Given the description of an element on the screen output the (x, y) to click on. 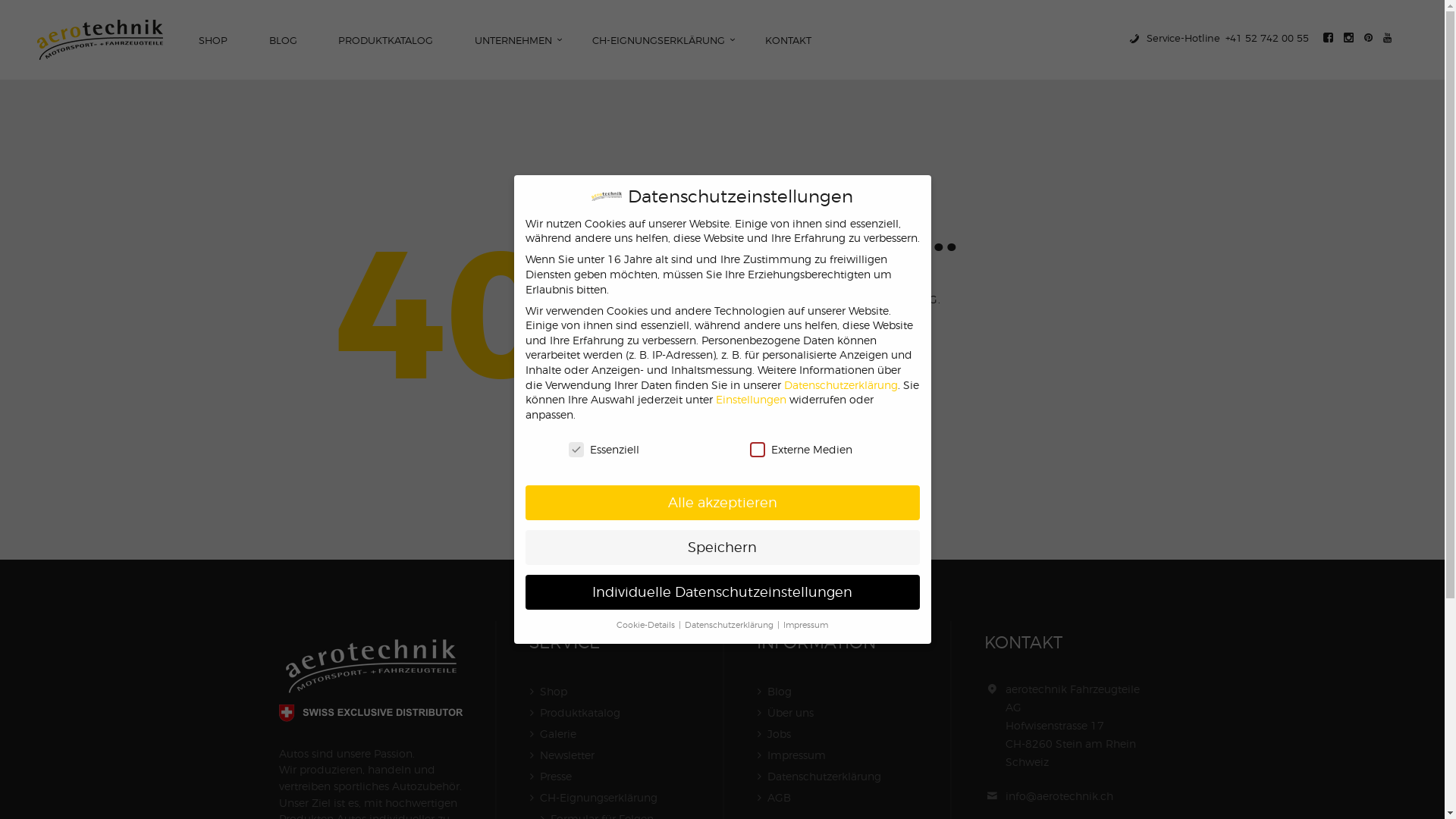
Impressum Element type: text (796, 754)
HOMEPAGE Element type: text (829, 348)
Cookie-Details Element type: text (646, 624)
Newsletter Element type: text (566, 754)
Einstellungen Element type: text (750, 398)
Presse Element type: text (555, 775)
Service-Hotline+41 52 742 00 55 Element type: text (1217, 37)
Produktkatalog Element type: text (579, 712)
Alle akzeptieren Element type: text (721, 502)
AGB Element type: text (778, 796)
Blog Element type: text (779, 690)
Individuelle Datenschutzeinstellungen Element type: text (721, 591)
Galerie Element type: text (557, 733)
Speichern Element type: text (721, 547)
BLOG Element type: text (282, 40)
info@aerotechnik.ch Element type: text (1059, 795)
Shop Element type: text (553, 690)
SHOP Element type: text (213, 40)
UNTERNEHMEN Element type: text (512, 40)
KONTAKT Element type: text (788, 40)
PRODUKTKATALOG Element type: text (385, 40)
Jobs Element type: text (778, 733)
Impressum Element type: text (805, 624)
